Given the description of an element on the screen output the (x, y) to click on. 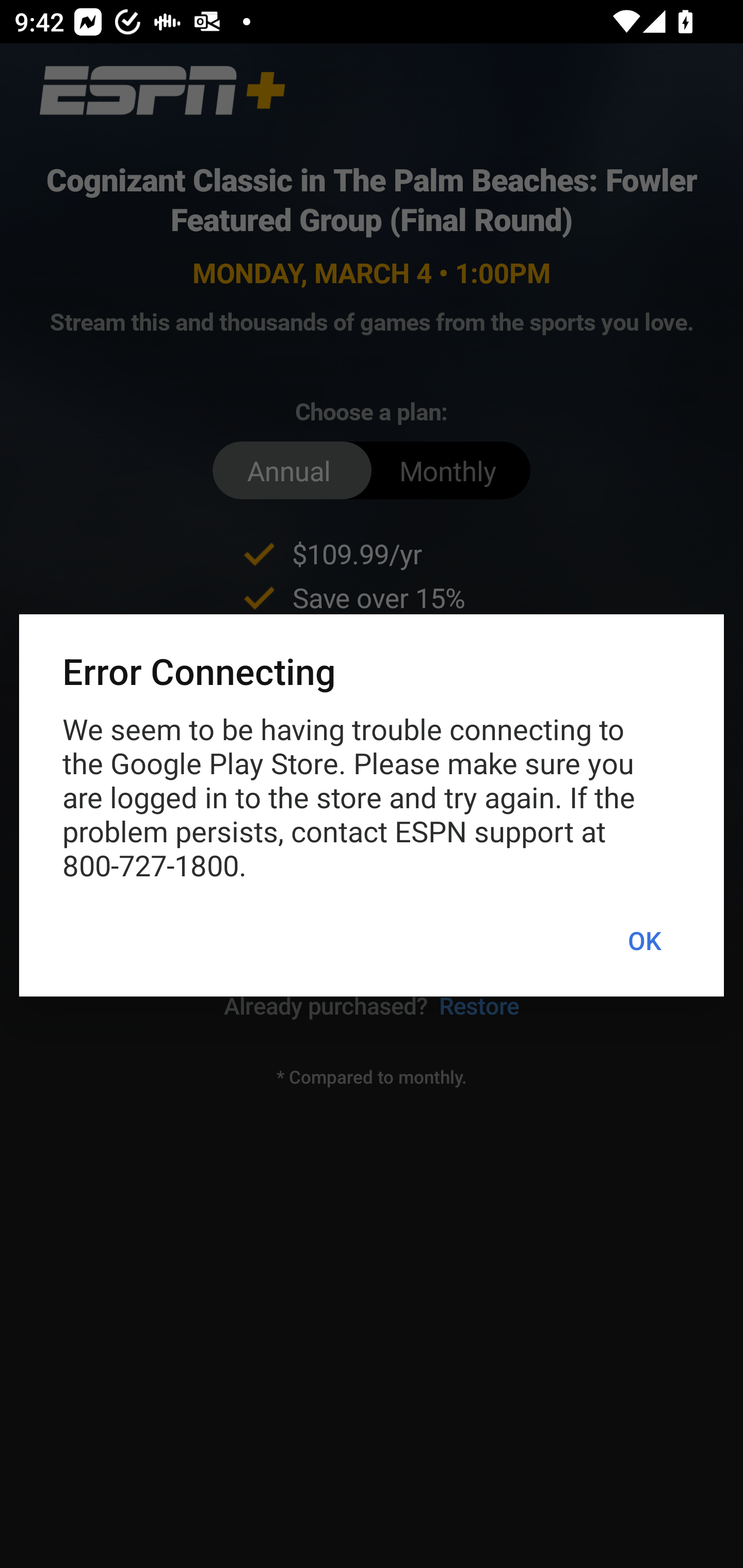
OK (644, 940)
